Given the description of an element on the screen output the (x, y) to click on. 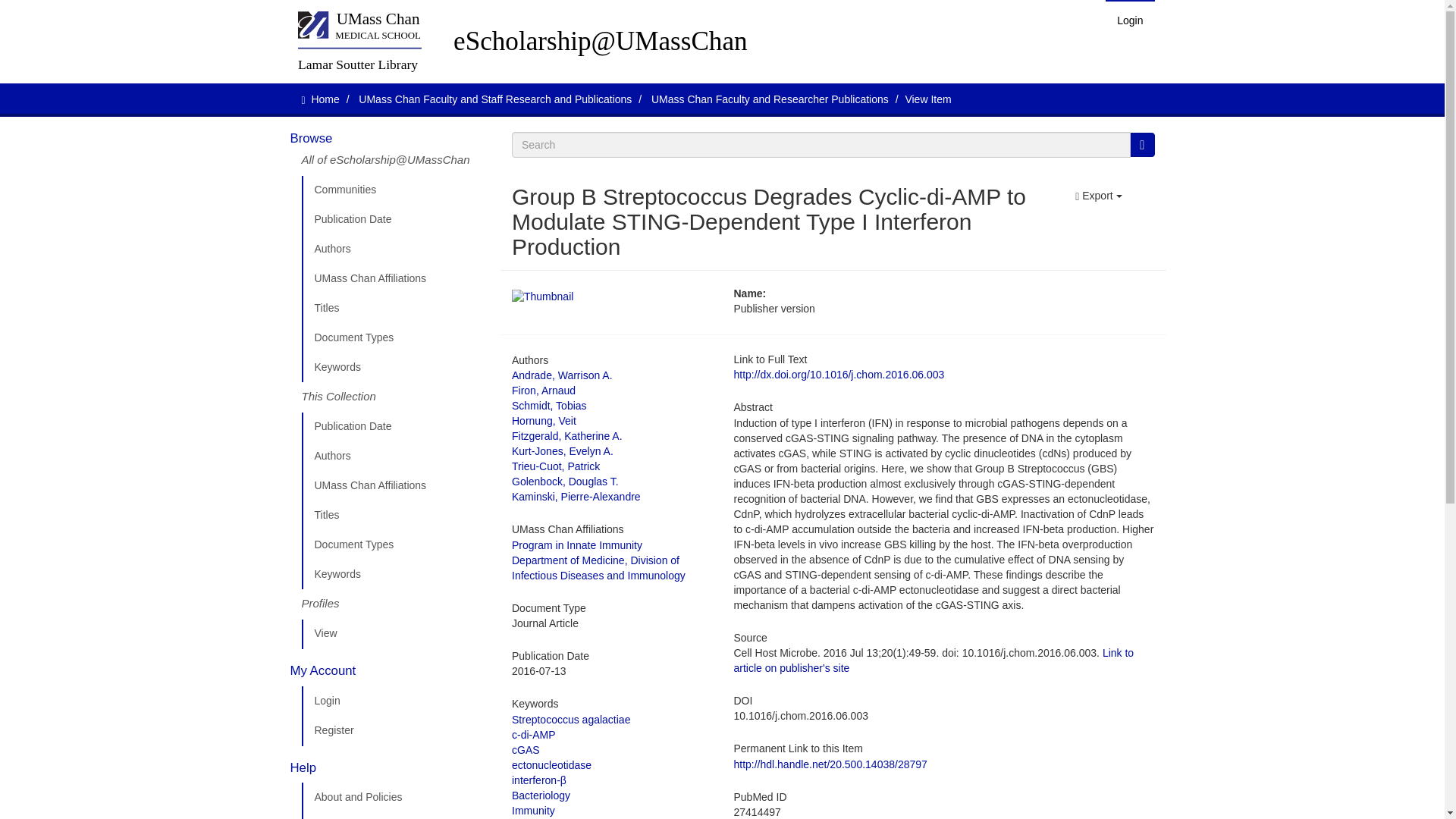
Titles (395, 515)
Profiles (395, 603)
UMass Chan Affiliations (395, 485)
About and Policies (395, 797)
Publication Date (395, 426)
This Collection (395, 397)
Authors (395, 456)
Keywords (395, 574)
UMass Chan Affiliations (395, 278)
Login (1129, 19)
Keywords (395, 367)
Home (325, 99)
Document Types (395, 544)
Submission Guidelines (395, 815)
Titles (395, 308)
